Given the description of an element on the screen output the (x, y) to click on. 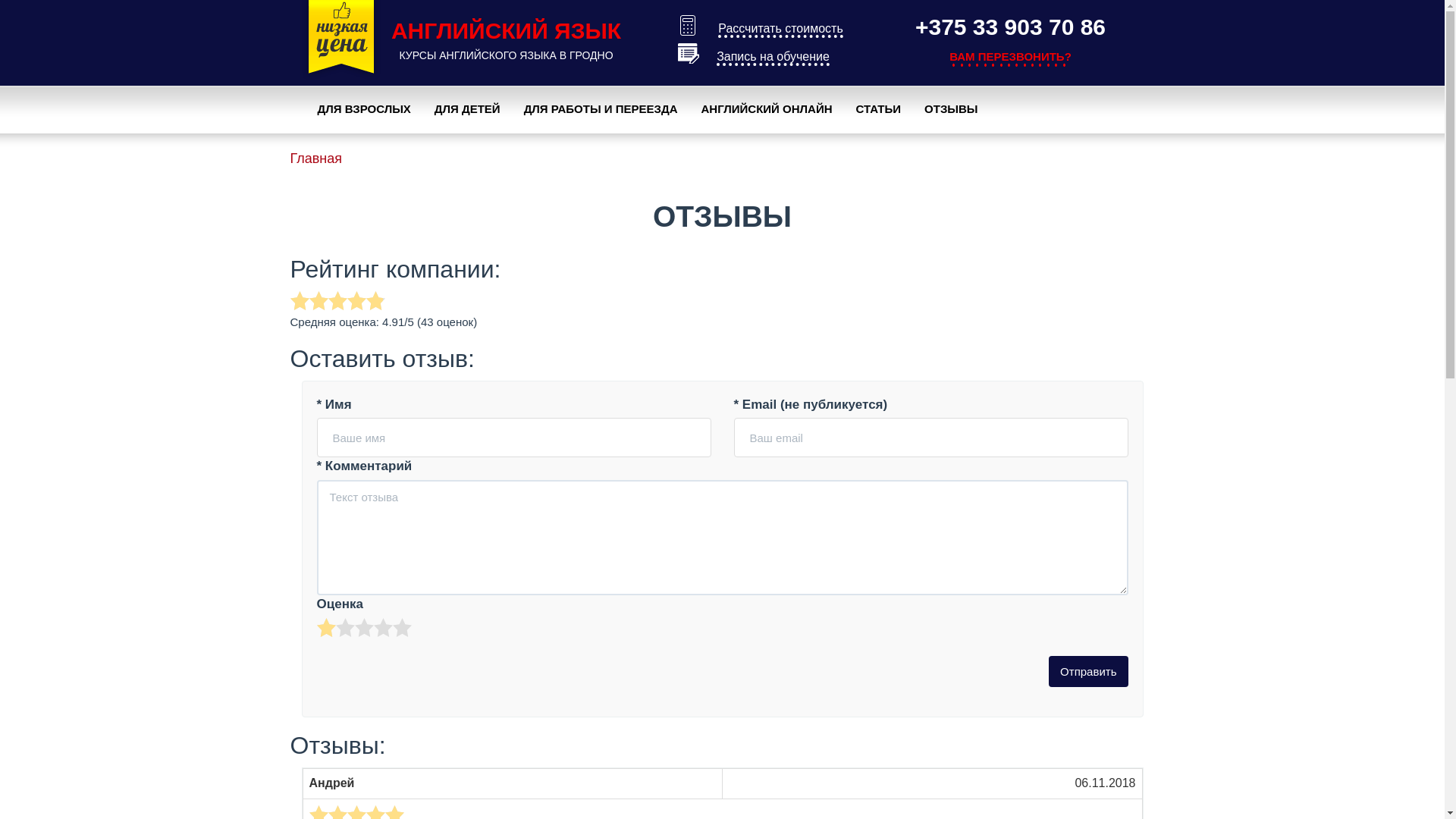
+375 33 903 70 86 Element type: text (1010, 26)
